Given the description of an element on the screen output the (x, y) to click on. 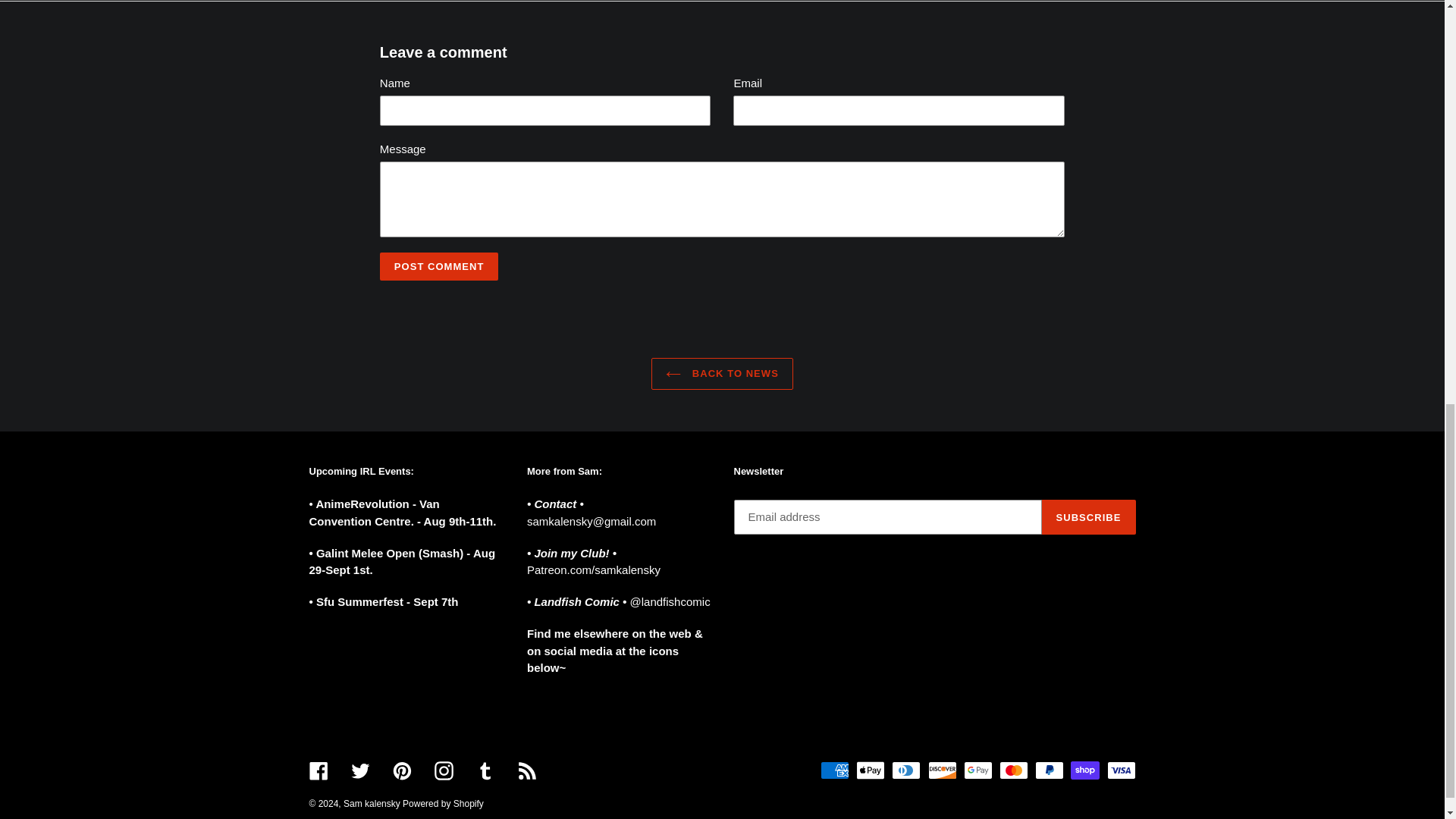
Post comment (439, 266)
